Given the description of an element on the screen output the (x, y) to click on. 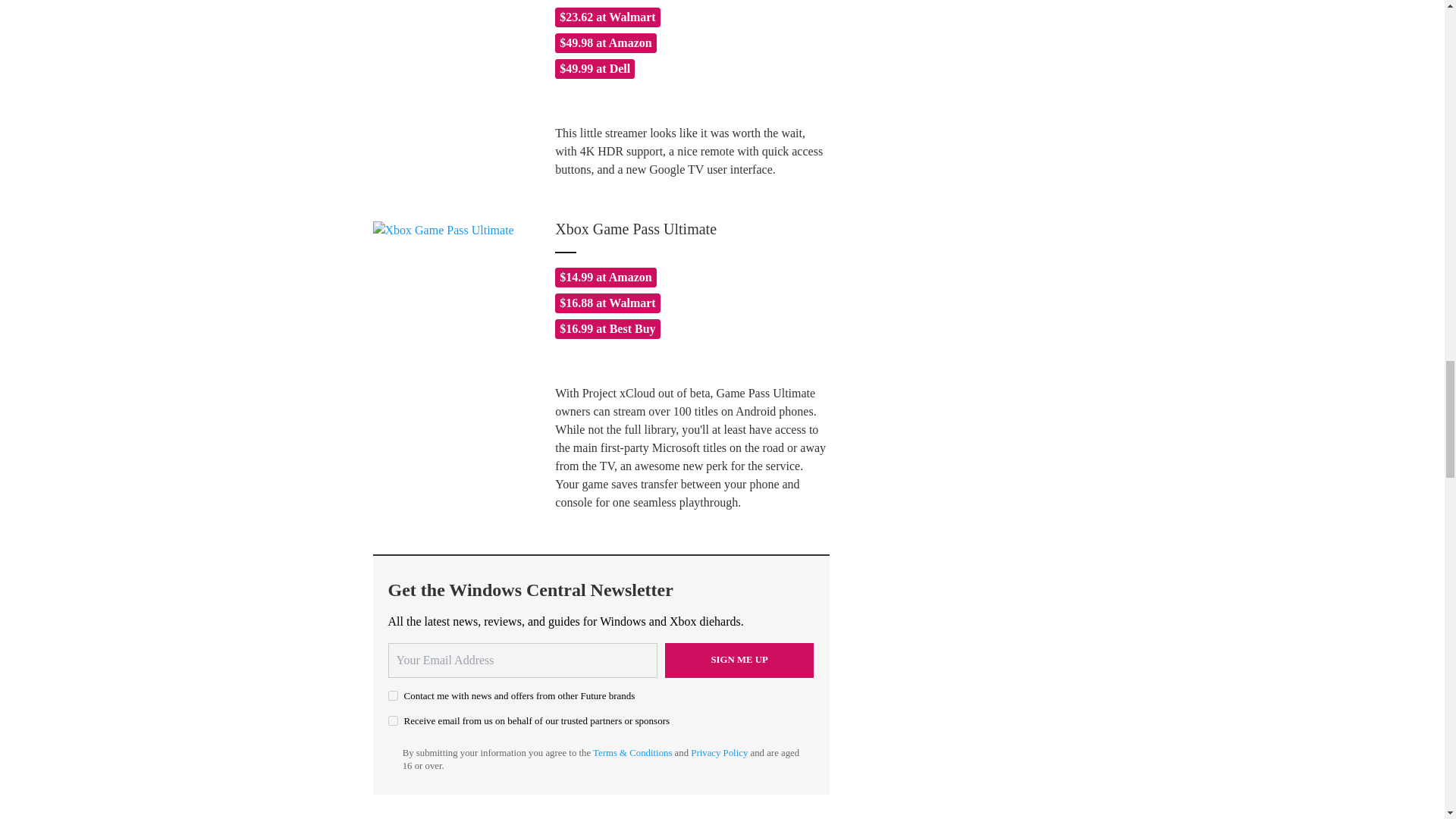
on (392, 720)
on (392, 696)
Sign me up (739, 660)
